Given the description of an element on the screen output the (x, y) to click on. 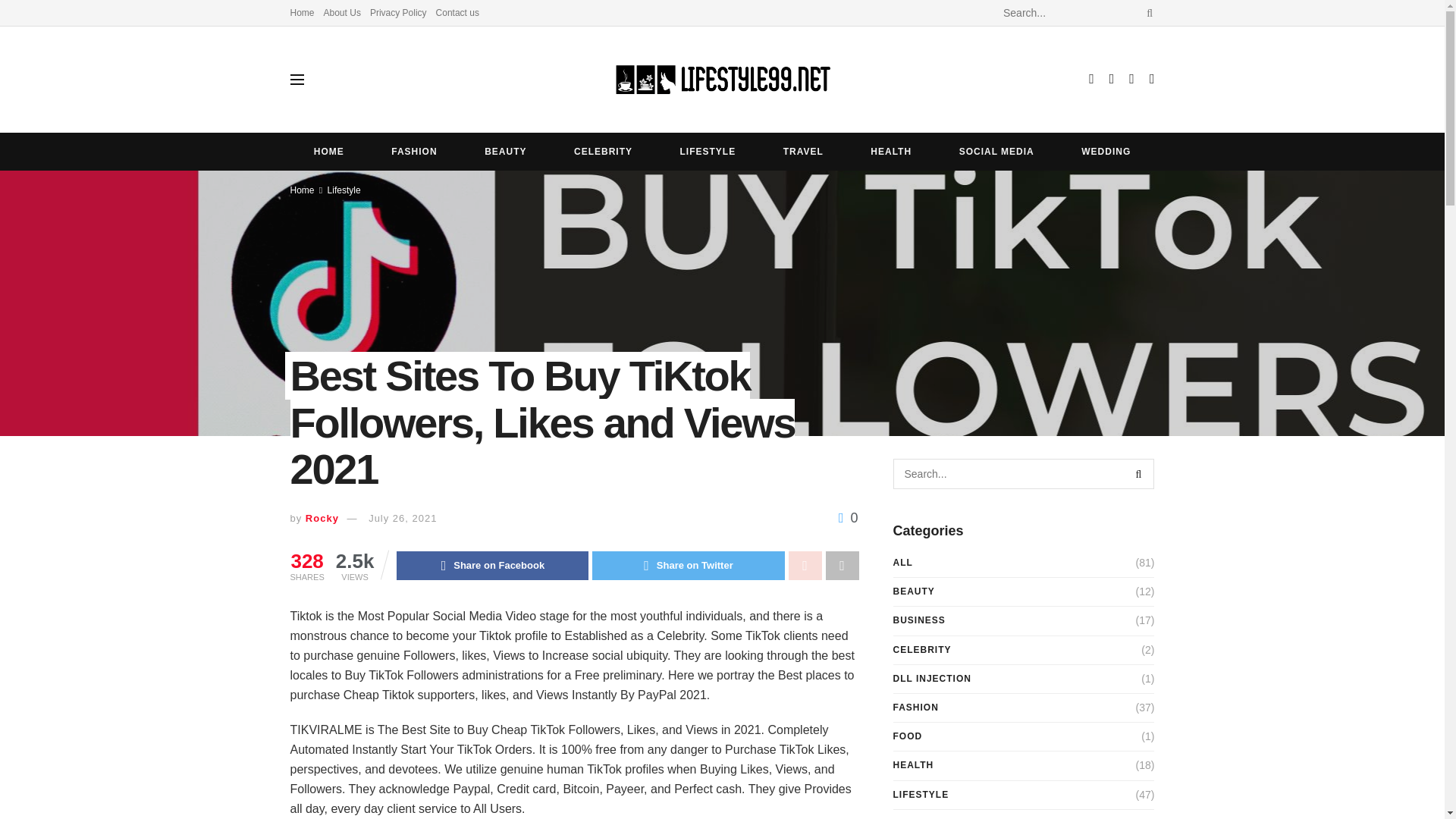
Contact us (457, 12)
Lifestyle (344, 190)
Rocky (322, 518)
BEAUTY (505, 151)
HEALTH (890, 151)
TRAVEL (802, 151)
SOCIAL MEDIA (996, 151)
Privacy Policy (397, 12)
Home (301, 190)
Home (301, 12)
